Given the description of an element on the screen output the (x, y) to click on. 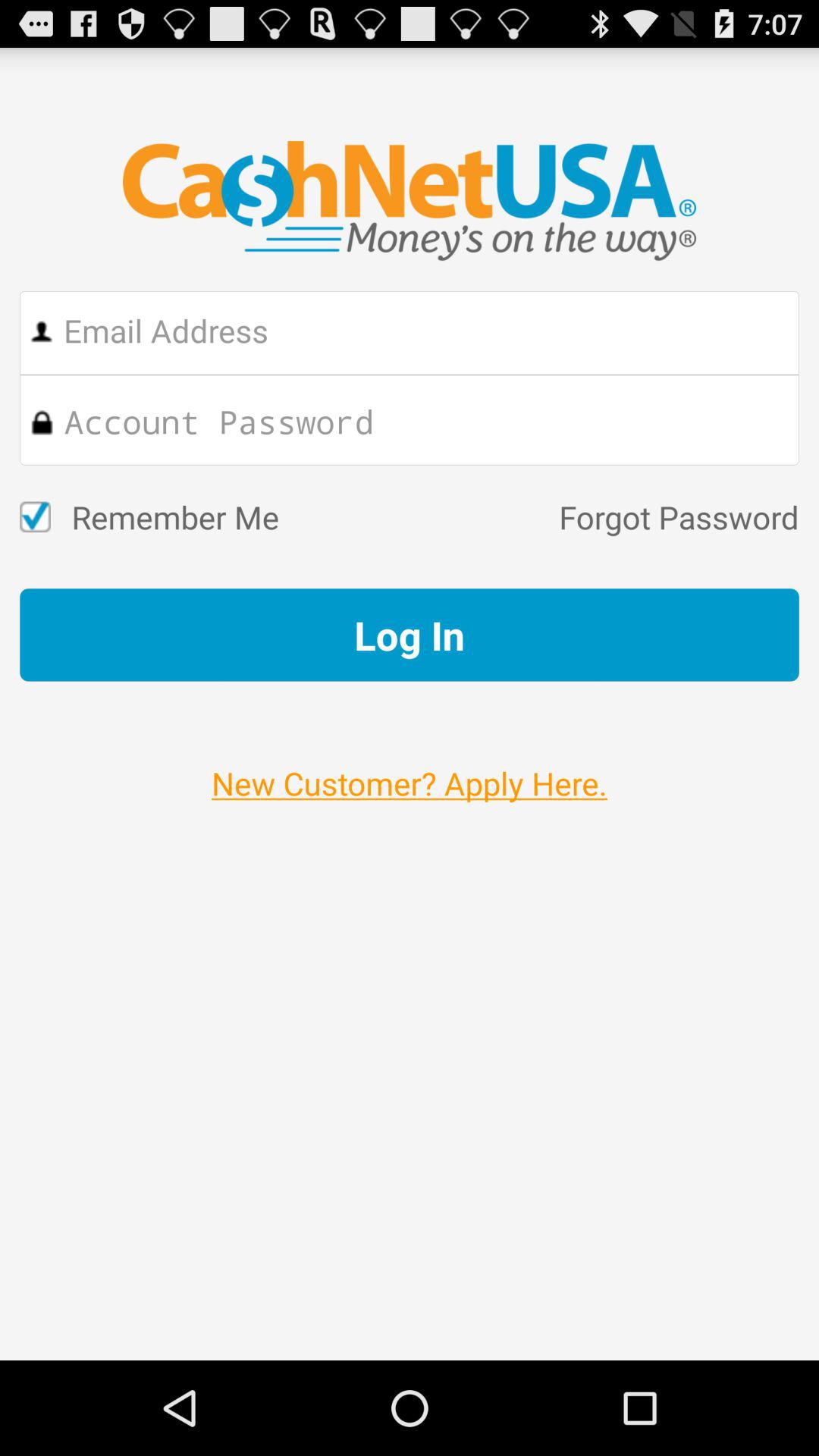
open forgot password (539, 516)
